Given the description of an element on the screen output the (x, y) to click on. 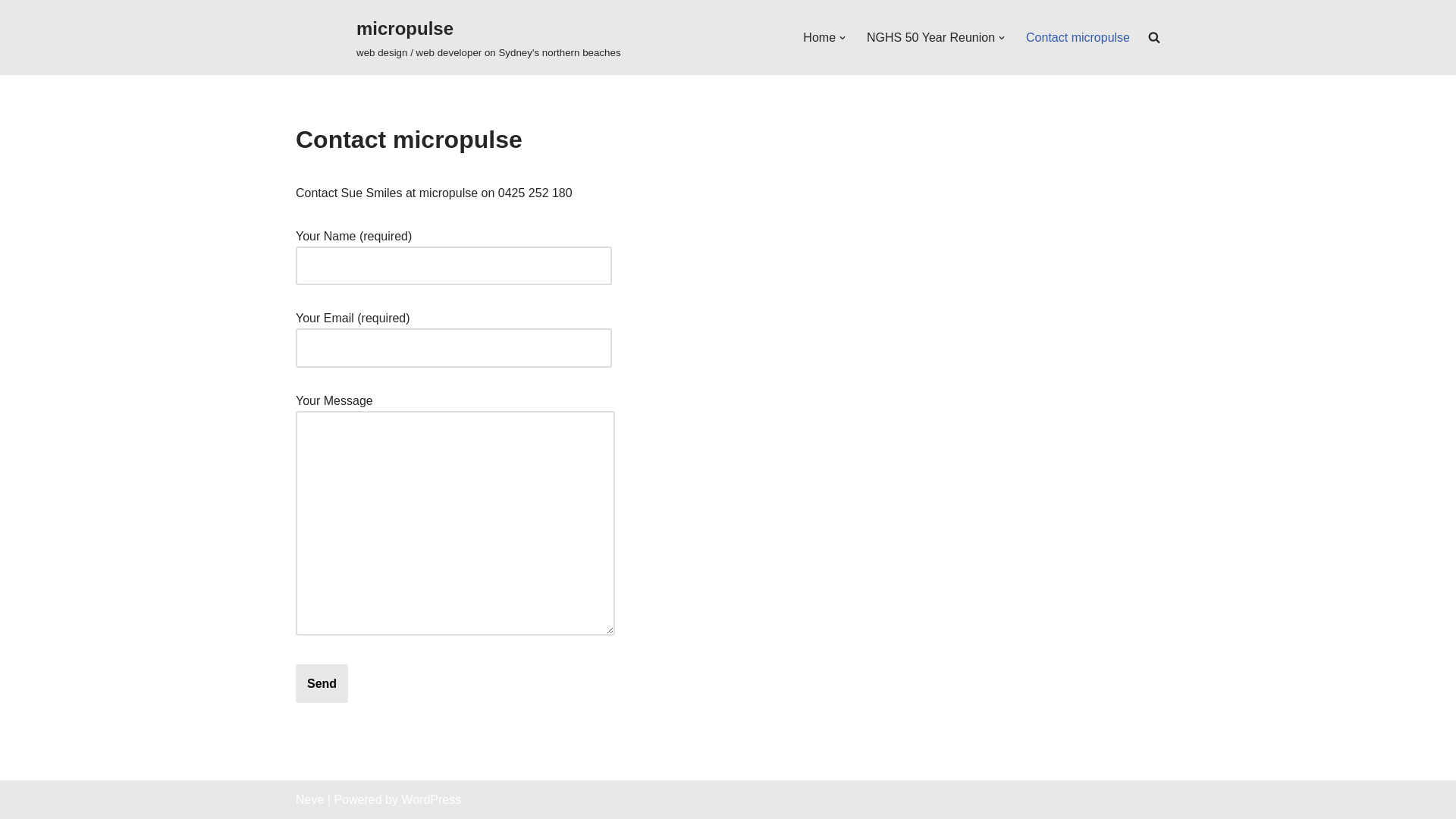
Neve Element type: text (309, 799)
NGHS 50 Year Reunion Element type: text (930, 37)
Contact micropulse Element type: text (1077, 37)
WordPress Element type: text (431, 799)
Skip to content Element type: text (11, 31)
Send Element type: text (321, 683)
Home Element type: text (819, 37)
